Given the description of an element on the screen output the (x, y) to click on. 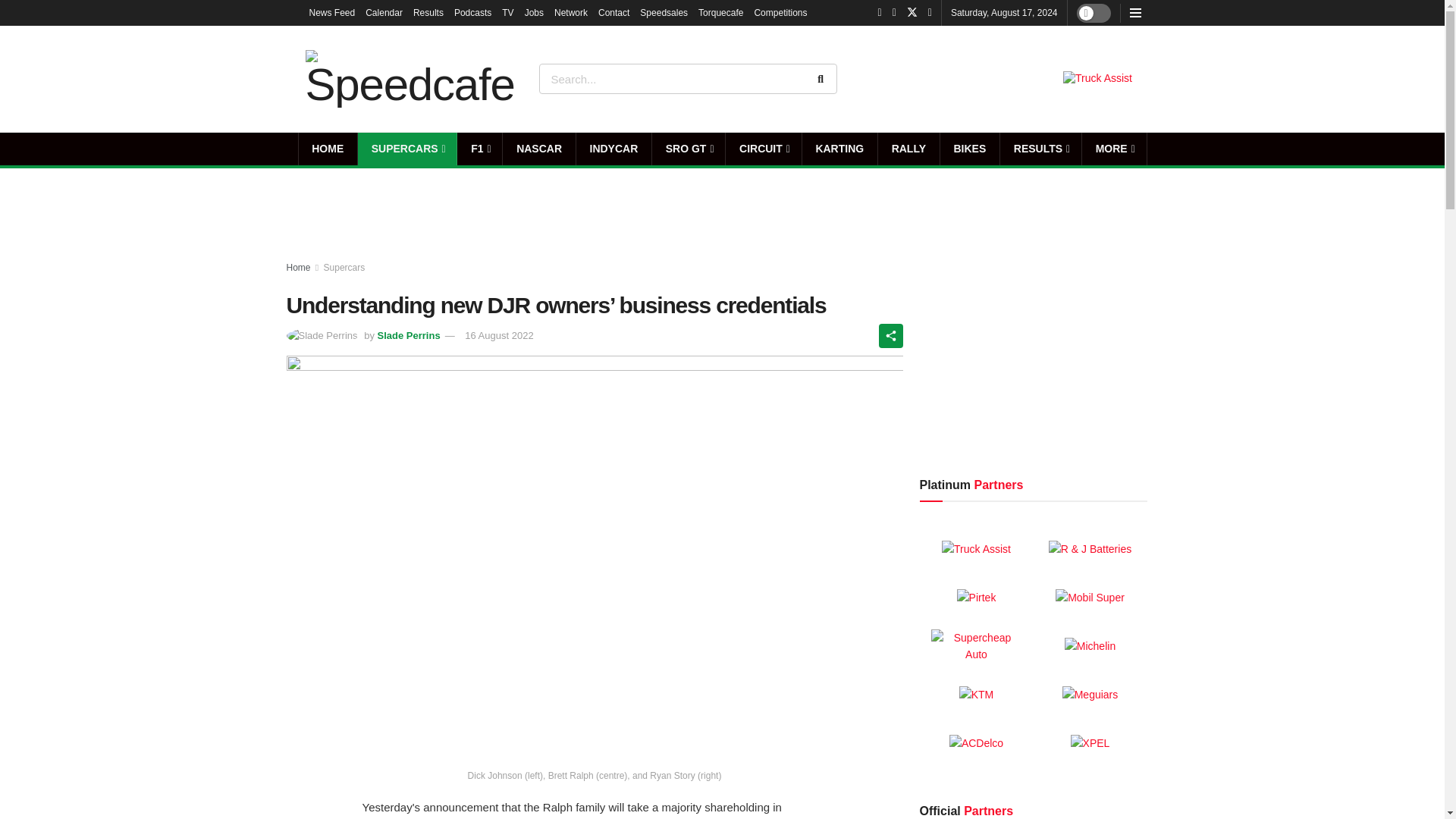
SUPERCARS (407, 148)
News Feed (331, 12)
Network (571, 12)
Results (428, 12)
HOME (327, 148)
Speedsales (663, 12)
Truck Assist (1097, 78)
Torquecafe (720, 12)
F1 (479, 148)
Calendar (384, 12)
